Given the description of an element on the screen output the (x, y) to click on. 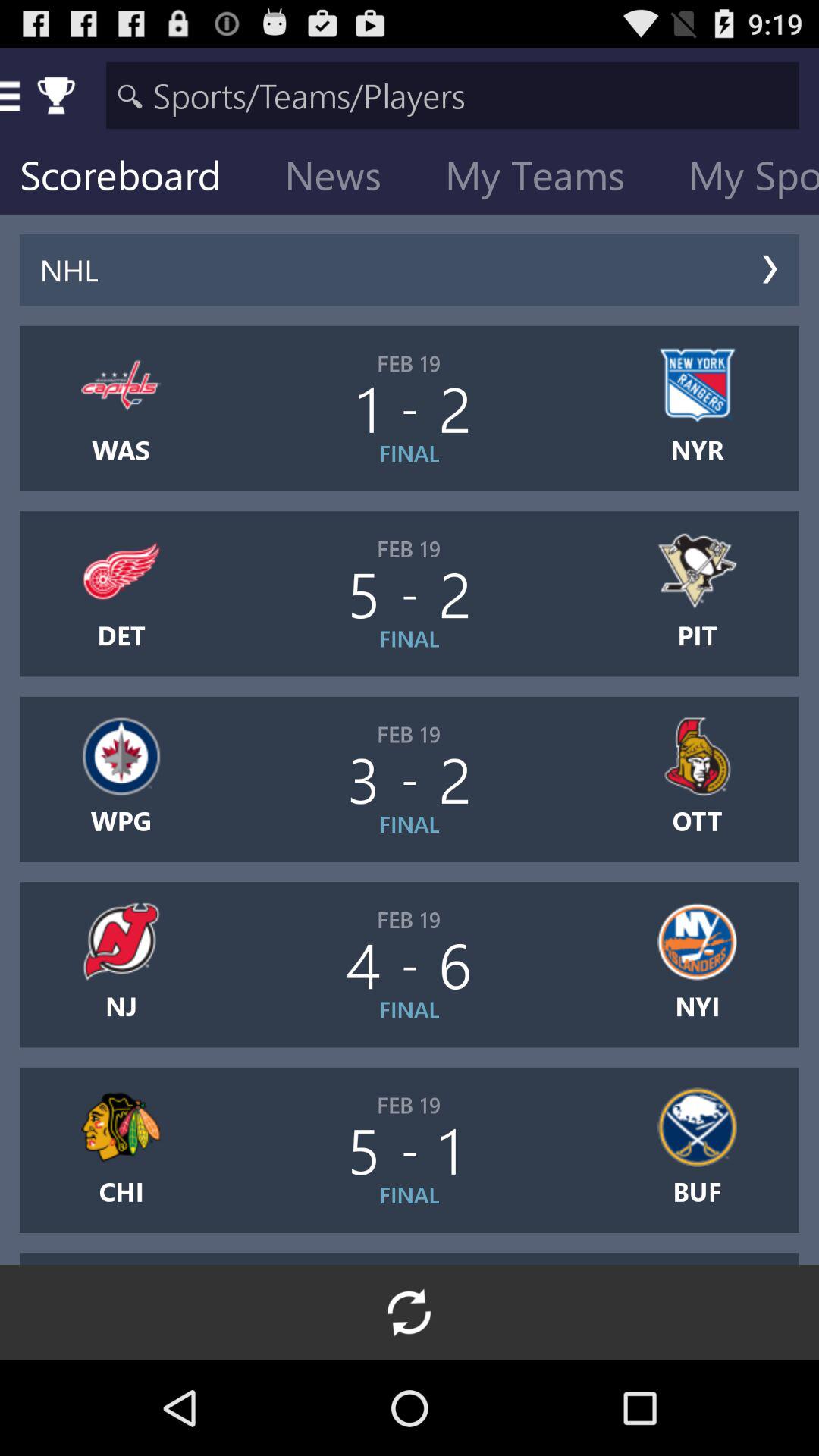
scroll until the my teams item (546, 178)
